Given the description of an element on the screen output the (x, y) to click on. 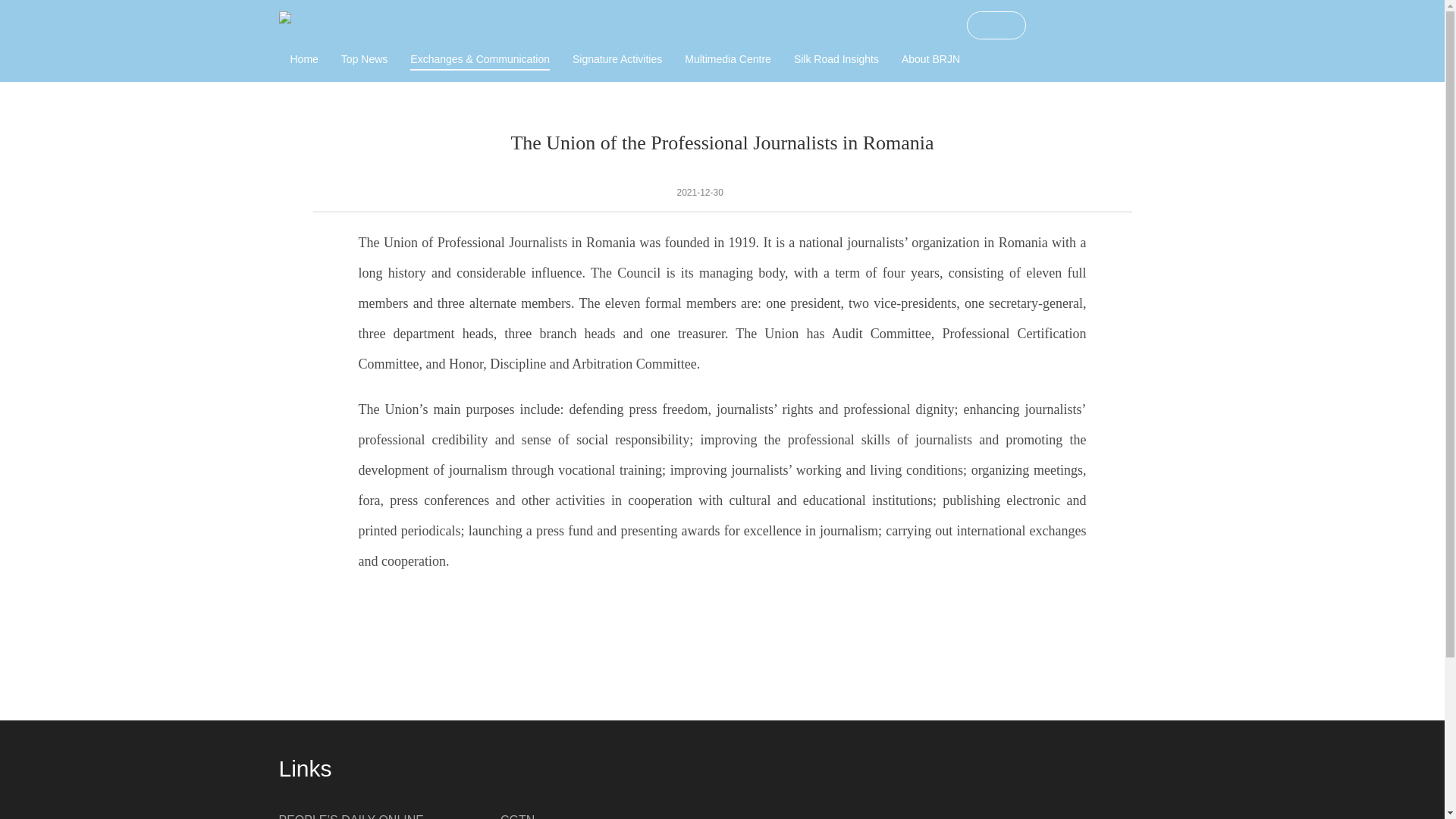
Home (303, 59)
CGTN (517, 816)
Signature Activities (617, 59)
Silk Road Insights (836, 59)
Multimedia Centre (727, 59)
Top News (363, 59)
About BRJN (930, 59)
